Given the description of an element on the screen output the (x, y) to click on. 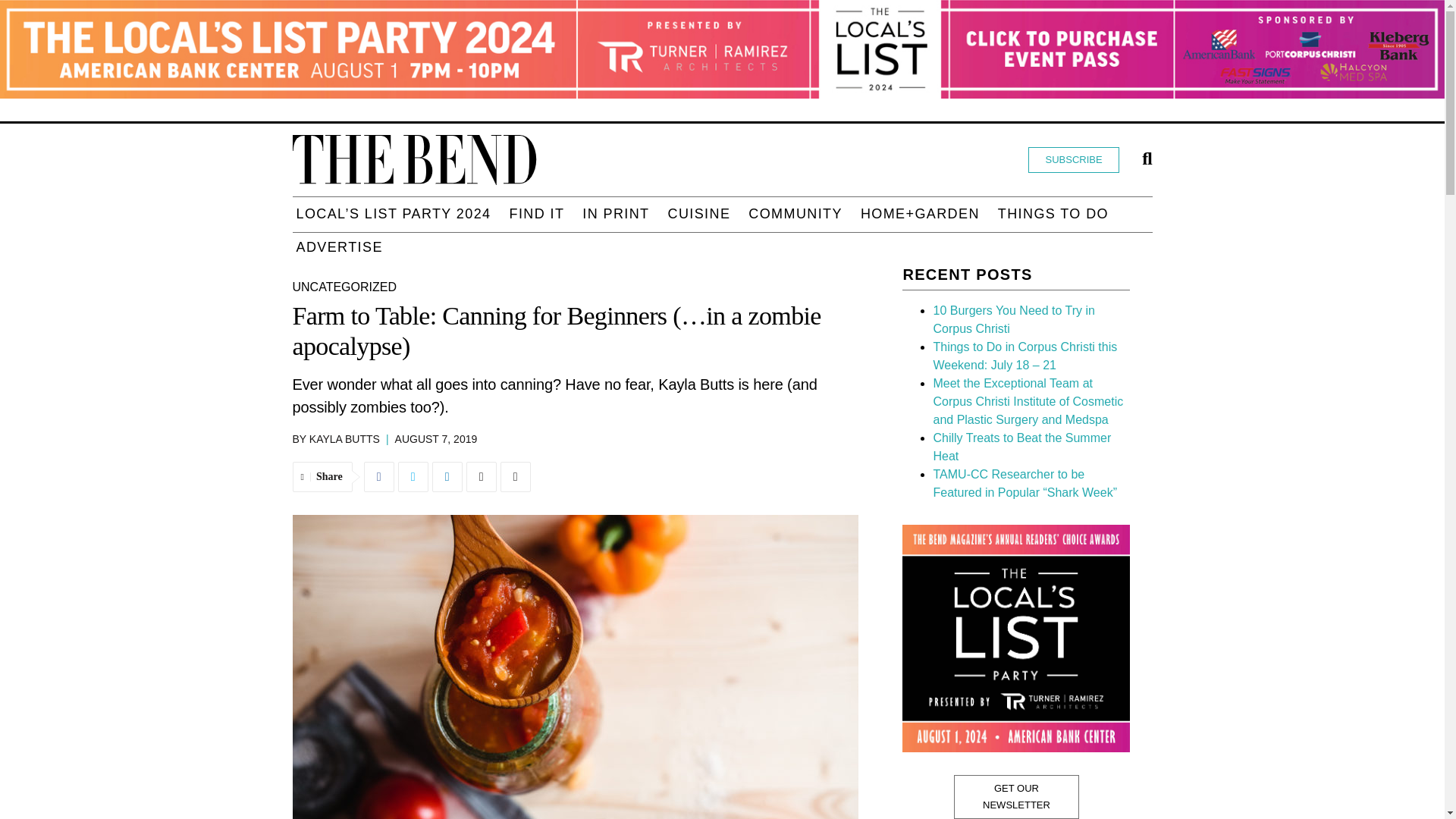
Find It (536, 213)
Cuisine (699, 213)
In Print (615, 213)
Local's List Party 2024 (393, 213)
